Given the description of an element on the screen output the (x, y) to click on. 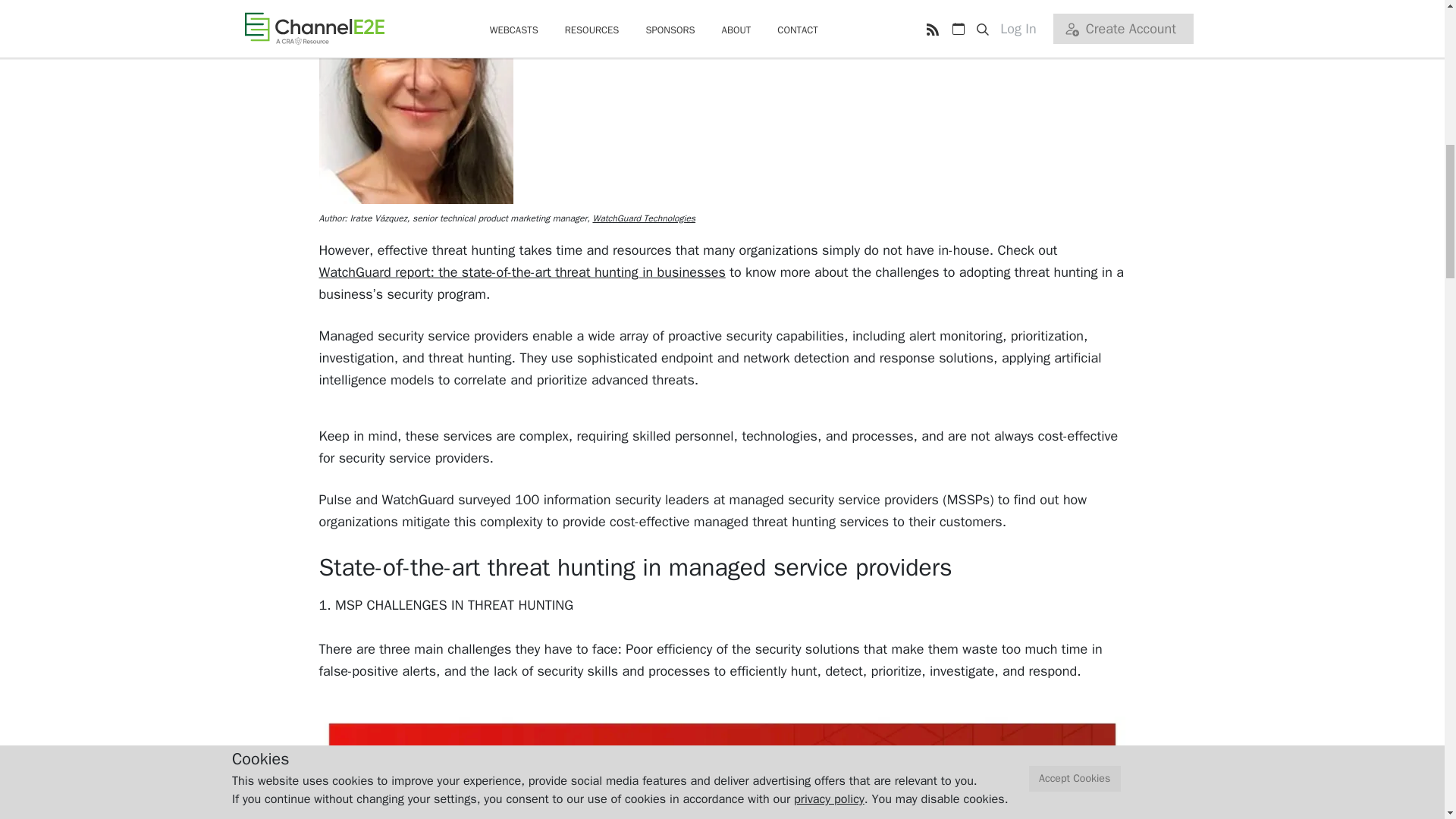
WatchGuard Technologies (643, 218)
